Given the description of an element on the screen output the (x, y) to click on. 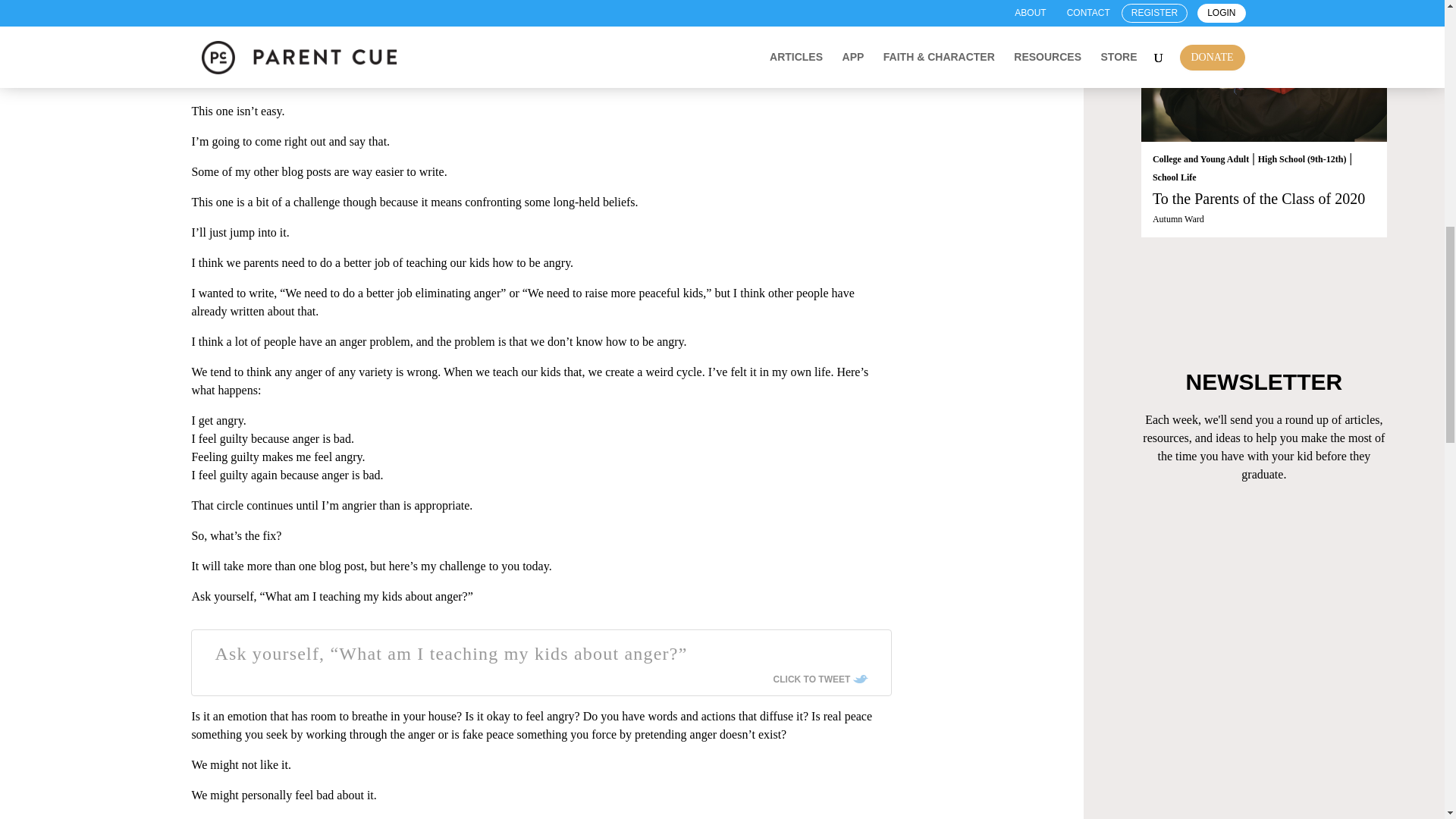
To the Parents of the Class of 2020 (1259, 198)
CLICK TO TWEET (821, 678)
Posts by Autumn Ward (1178, 218)
Posts by Jon Acuff (208, 56)
To the Parents of the Class of 2020 (1264, 70)
Jon Acuff (208, 56)
Form 0 (1264, 599)
